Given the description of an element on the screen output the (x, y) to click on. 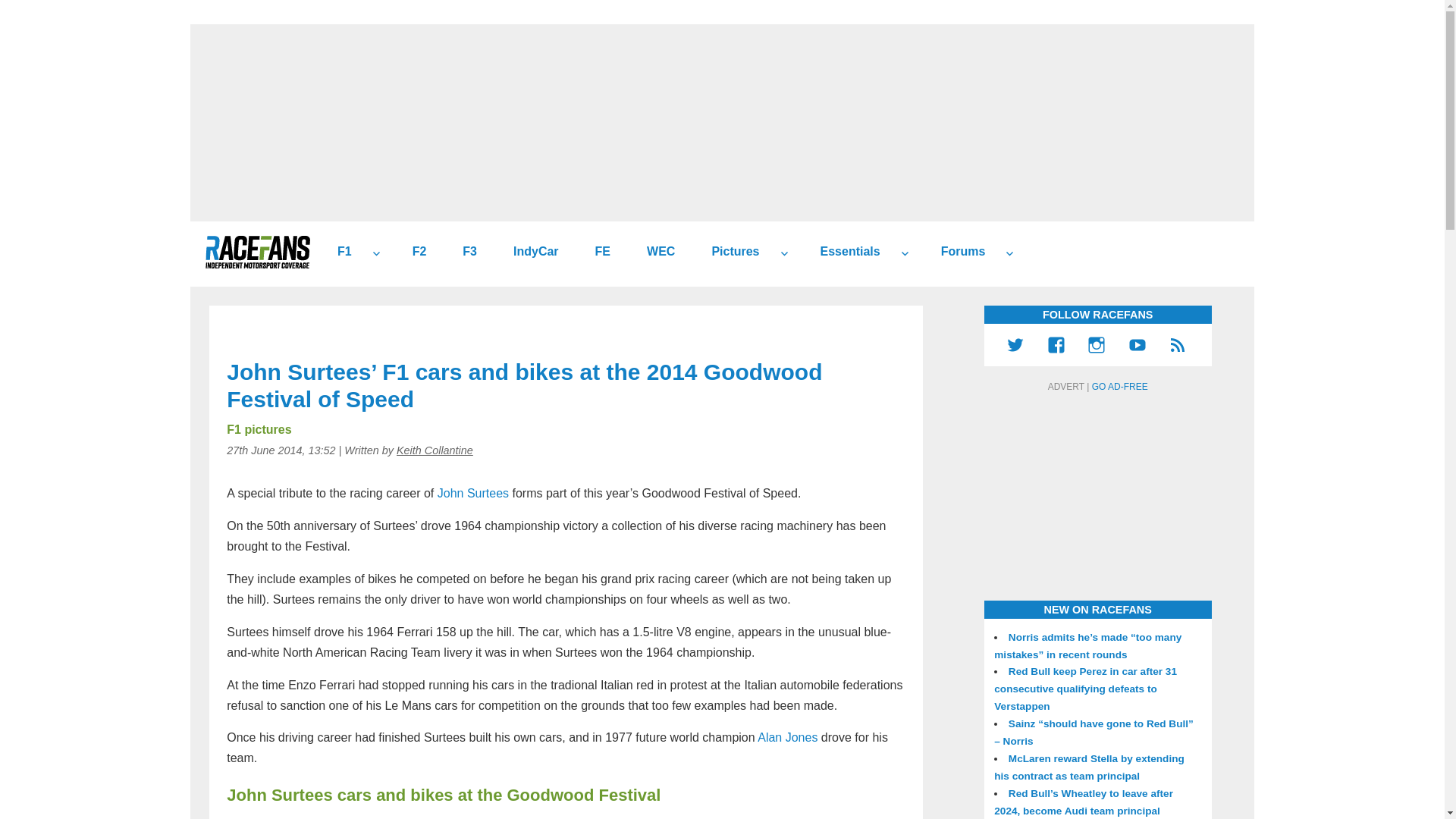
expand child menu (783, 253)
expand child menu (376, 253)
Formula 2 (413, 251)
Pictures (729, 251)
IndyCar (529, 251)
F1 pictures and wallpapers (729, 251)
WEC (655, 251)
F2 (413, 251)
Formula 3 (463, 251)
Formula 1 (338, 251)
RaceFans (257, 252)
World Endurance Championship (655, 251)
F3 (463, 251)
IndyCar (529, 251)
F1 (338, 251)
